Given the description of an element on the screen output the (x, y) to click on. 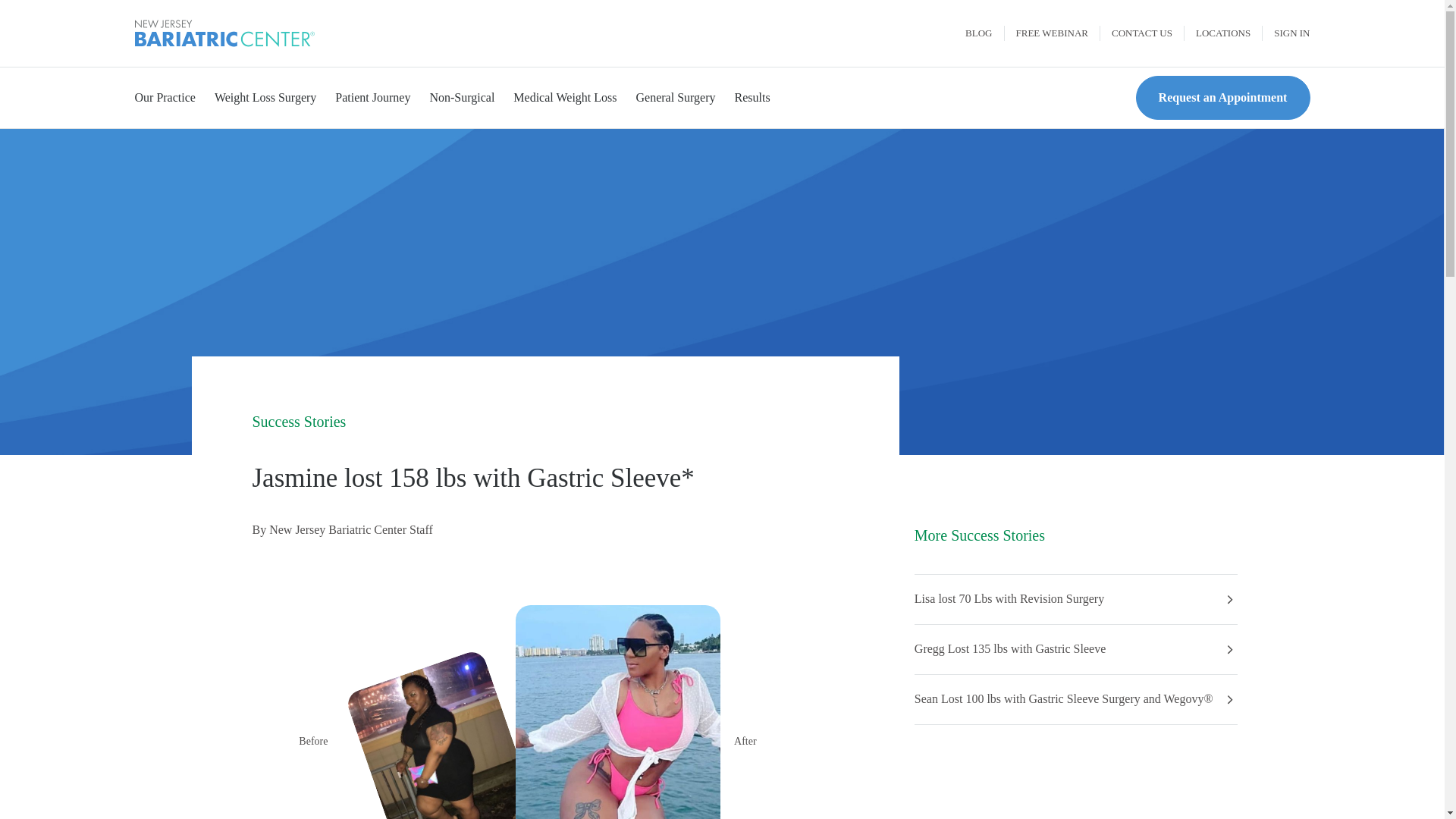
Gregg Lost 135 lbs with Gastric Sleeve (1009, 649)
Our Practice (165, 98)
Non-Surgical (462, 98)
FREE WEBINAR (1051, 32)
Results (751, 98)
Request an Appointment (1222, 98)
General Surgery (674, 98)
Lisa lost 70 Lbs with Revision Surgery (1008, 599)
CONTACT US (1141, 32)
Patient Journey (372, 98)
